Given the description of an element on the screen output the (x, y) to click on. 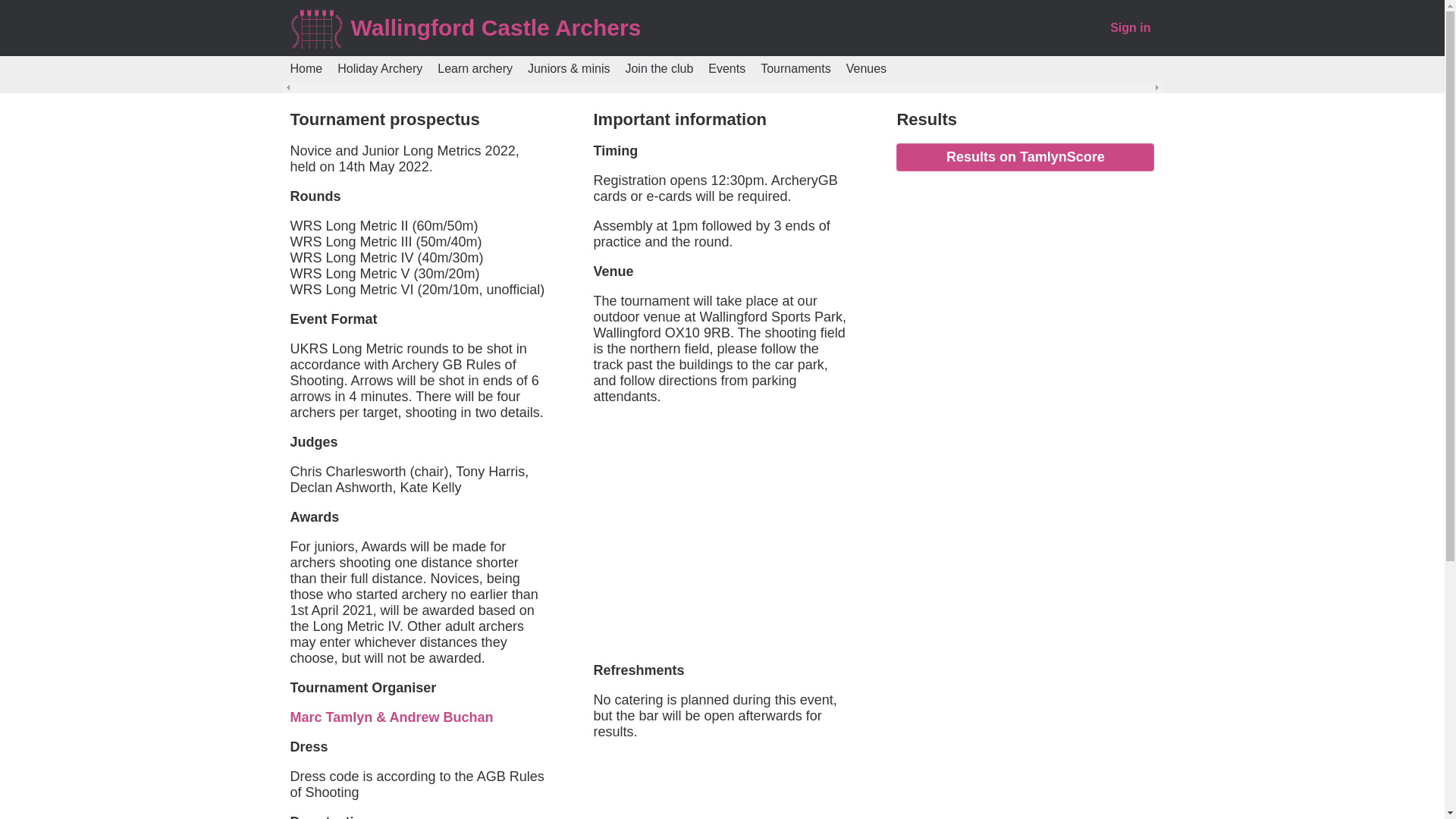
Learn archery (474, 68)
Tournaments (795, 68)
Results on TamlynScore (1025, 157)
Events (726, 68)
Wallingford Castle Archers (495, 27)
Holiday Archery (379, 68)
Sign in (1130, 27)
Join the club (658, 68)
Venues (865, 68)
Home (306, 68)
